Given the description of an element on the screen output the (x, y) to click on. 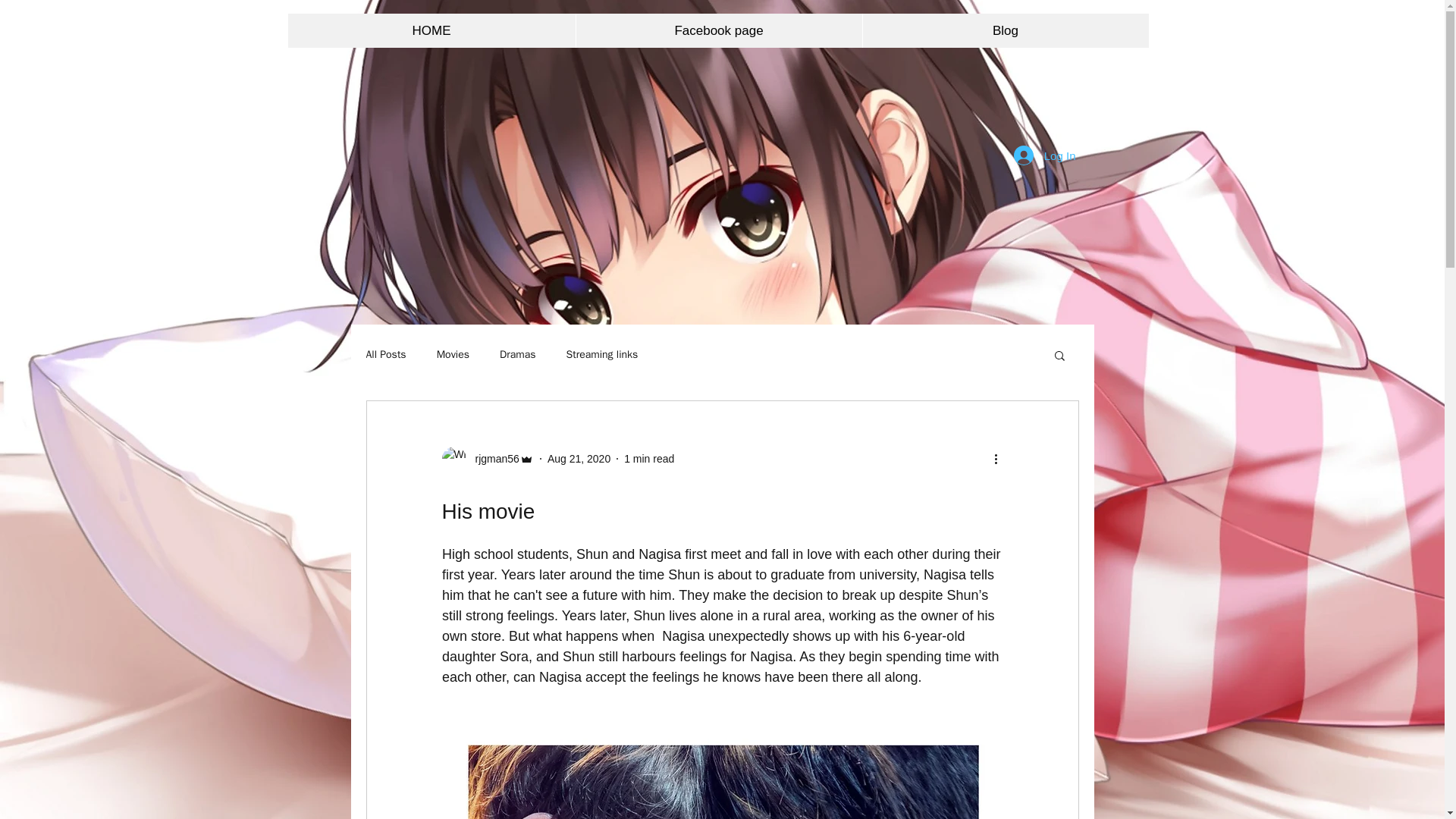
1 min read (649, 458)
Facebook page (718, 30)
Blog (1004, 30)
rjgman56 (491, 458)
rjgman56 (486, 458)
Dramas (517, 354)
HOME (431, 30)
Movies (452, 354)
Aug 21, 2020 (578, 458)
Streaming links (602, 354)
Log In (1044, 154)
All Posts (385, 354)
